Given the description of an element on the screen output the (x, y) to click on. 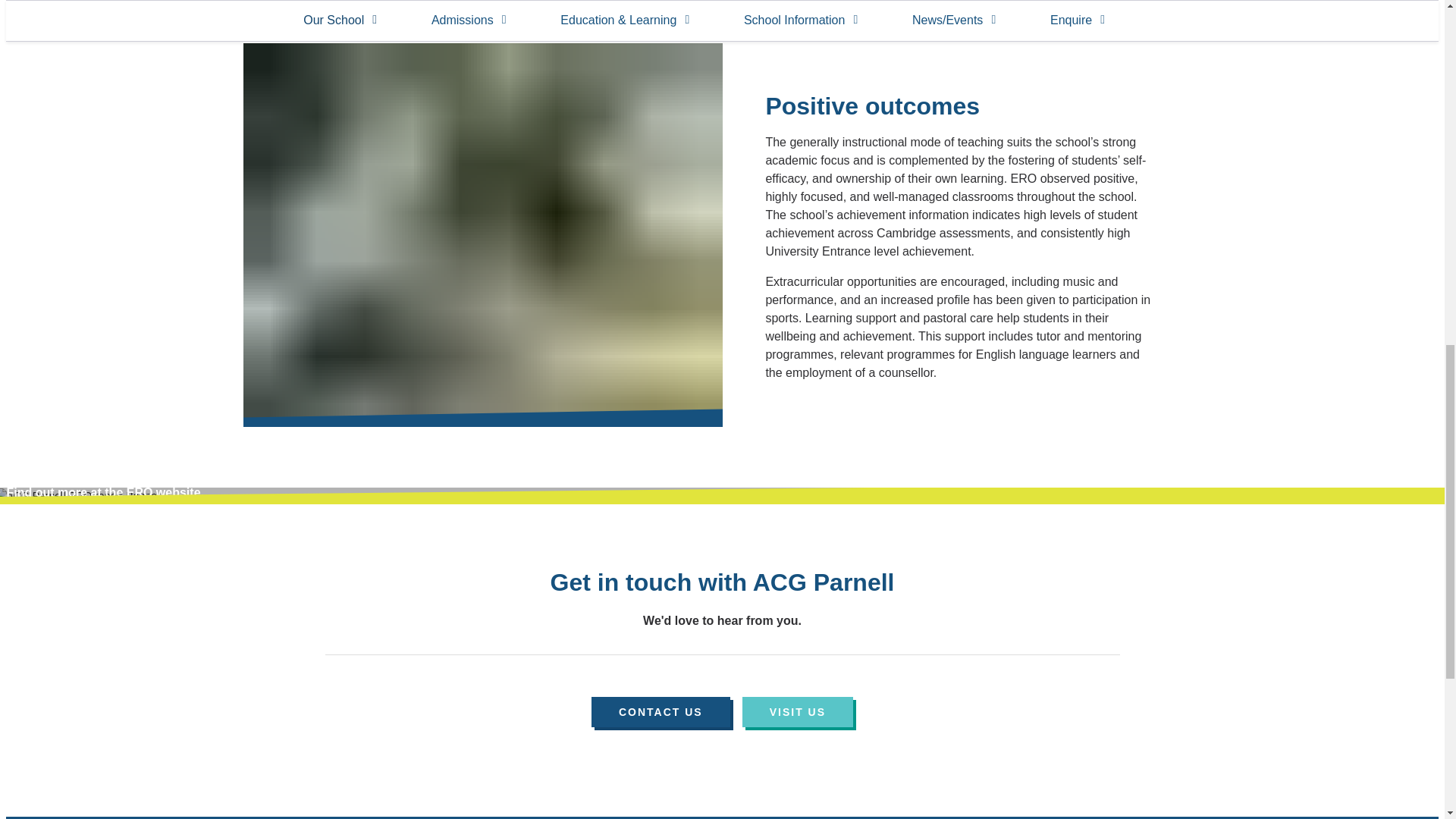
ACG Parnell-ERO report-tuition (961, 6)
